Given the description of an element on the screen output the (x, y) to click on. 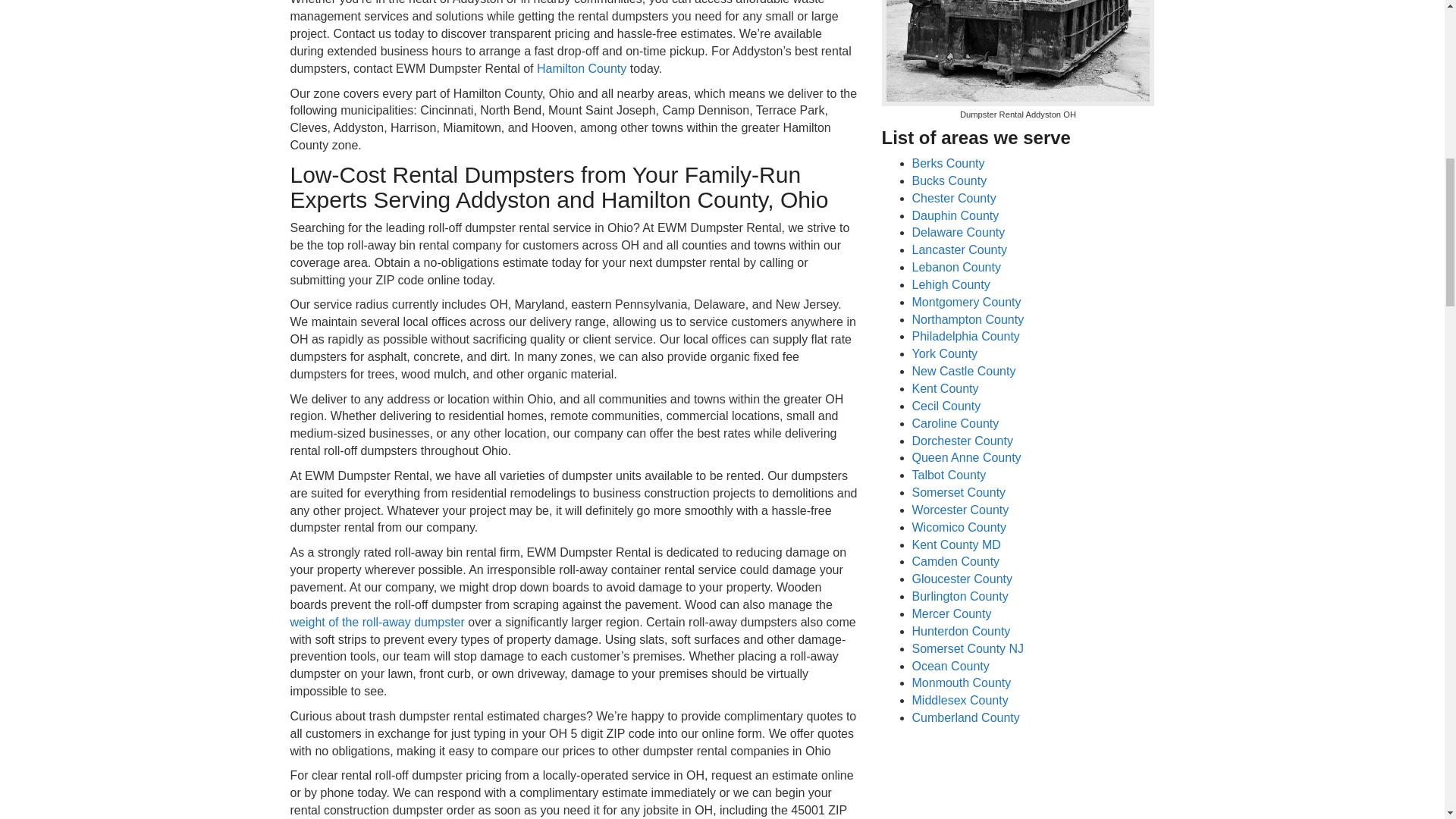
weight of the roll-away dumpster (376, 621)
Hamilton County (581, 68)
Bucks County (949, 180)
Chester County (953, 197)
Berks County (947, 163)
